Given the description of an element on the screen output the (x, y) to click on. 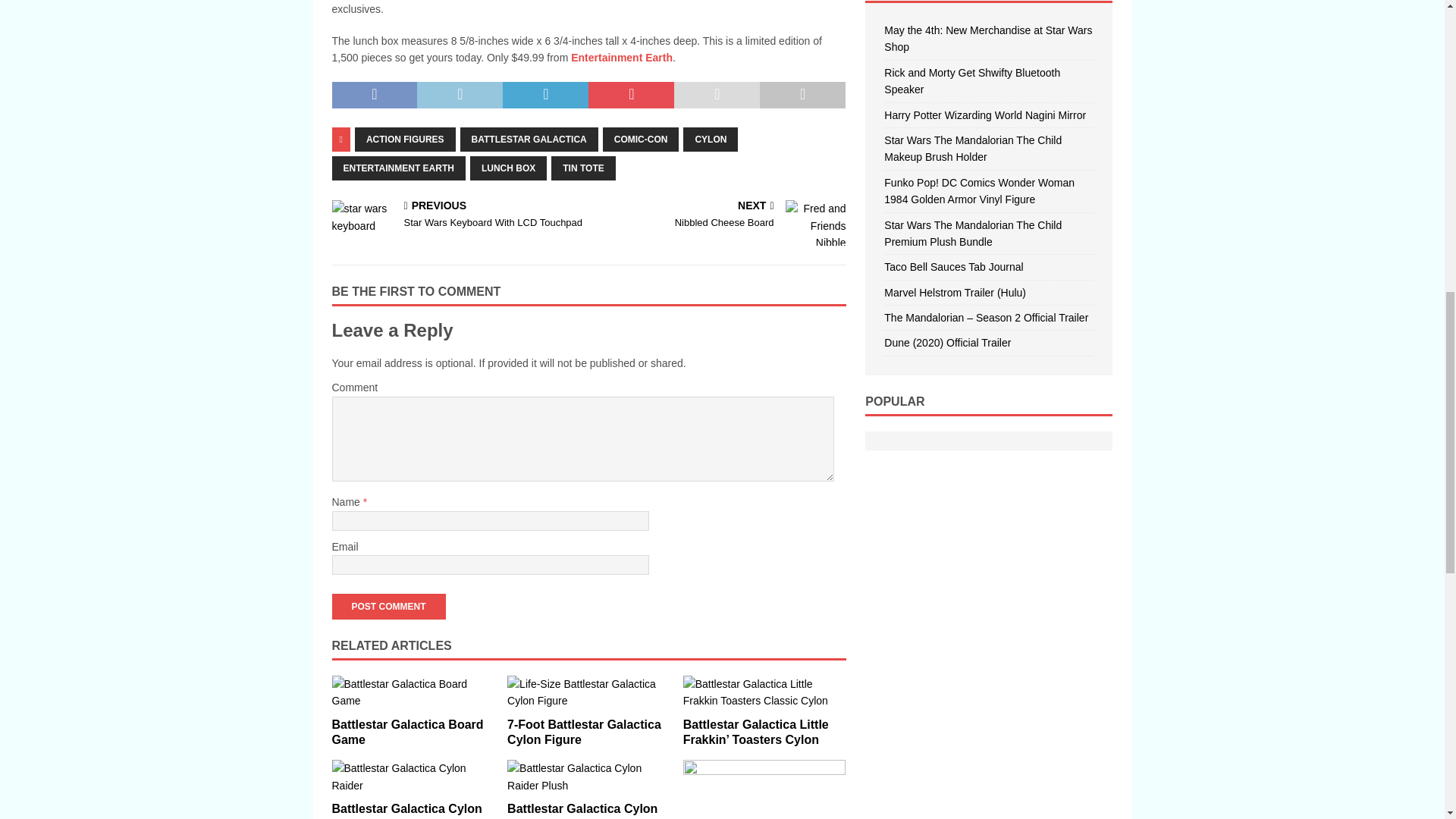
Battlestar Galactica Board Game (407, 732)
ENTERTAINMENT EARTH (398, 168)
LUNCH BOX (508, 168)
7-Foot Battlestar Galactica Cylon Figure (587, 692)
ACTION FIGURES (405, 139)
Post Comment (388, 606)
Post Comment (388, 606)
Entertainment Earth (621, 57)
TIN TOTE (582, 168)
Battlestar Galactica Cylon Raider Model Kit (413, 776)
Battlestar Galactica Cylon Raider Plush (582, 810)
Battlestar Galactica Board Game (413, 692)
CYLON (710, 139)
BATTLESTAR GALACTICA (529, 139)
7-Foot Battlestar Galactica Cylon Figure (583, 732)
